Given the description of an element on the screen output the (x, y) to click on. 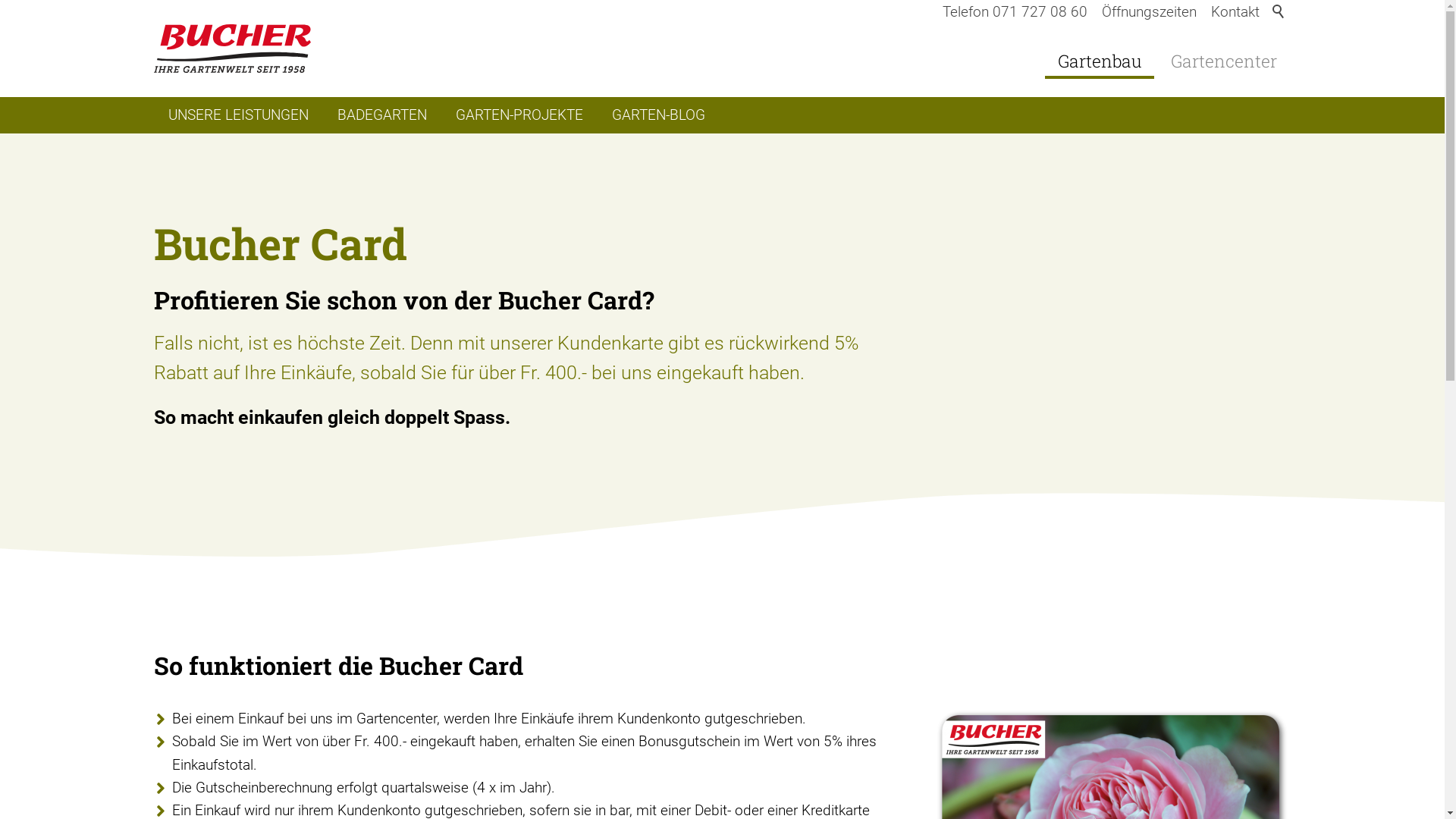
BADEGARTEN Element type: text (382, 115)
Kontakt Element type: text (1235, 11)
Zur Startseite Element type: hover (231, 48)
Gartenbau Element type: text (1099, 60)
Telefon 071 727 08 60 Element type: text (1014, 11)
GARTEN-BLOG Element type: text (658, 115)
UNSERE LEISTUNGEN Element type: text (237, 115)
GARTEN-PROJEKTE Element type: text (519, 115)
Gartencenter Element type: text (1222, 60)
